Given the description of an element on the screen output the (x, y) to click on. 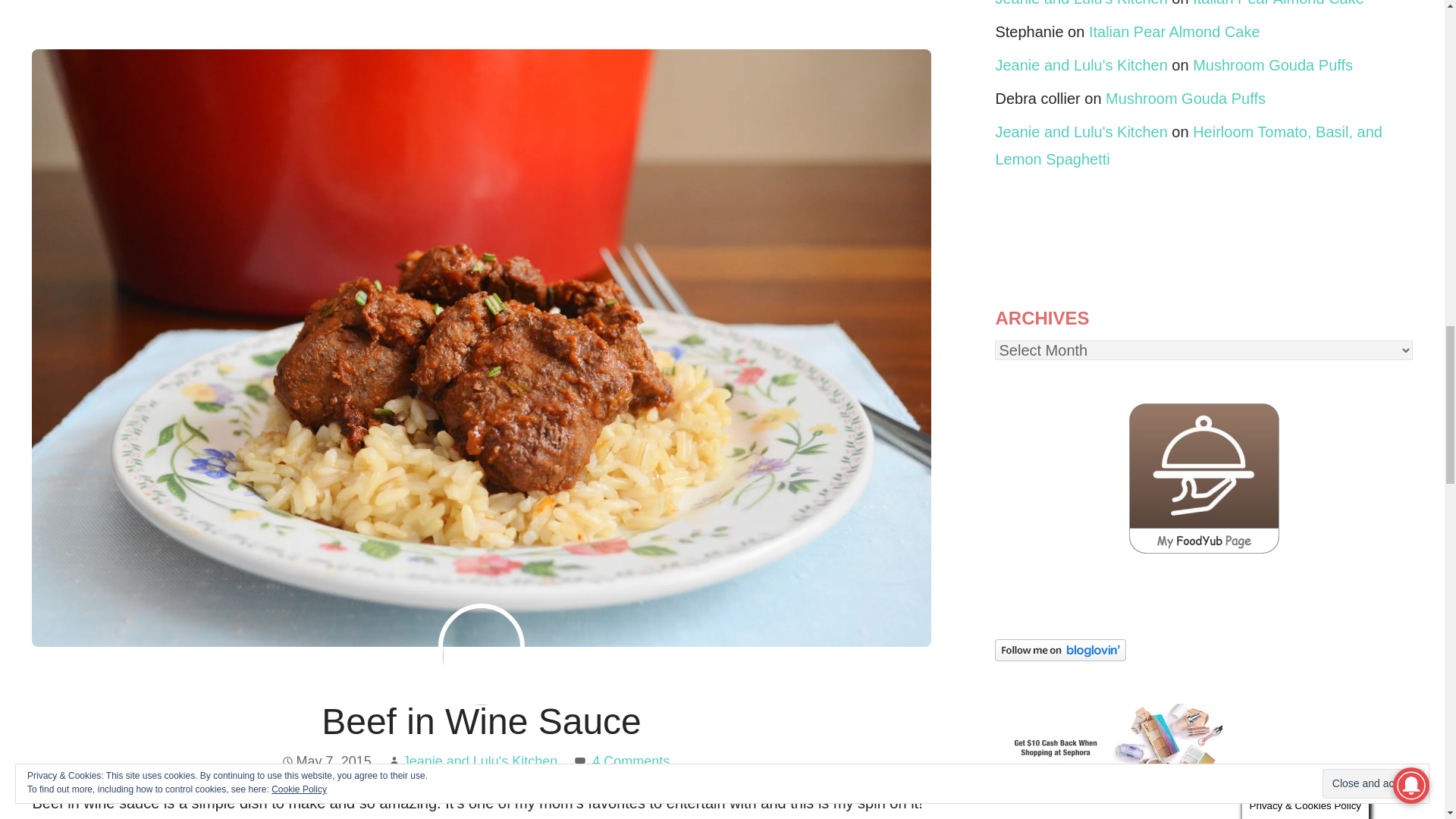
Posts by Jeanie and Lulu's Kitchen (480, 761)
My FoodYub Page (1203, 548)
Follow Jeanie and Lulu's Kitchen on Bloglovin (1059, 655)
